Given the description of an element on the screen output the (x, y) to click on. 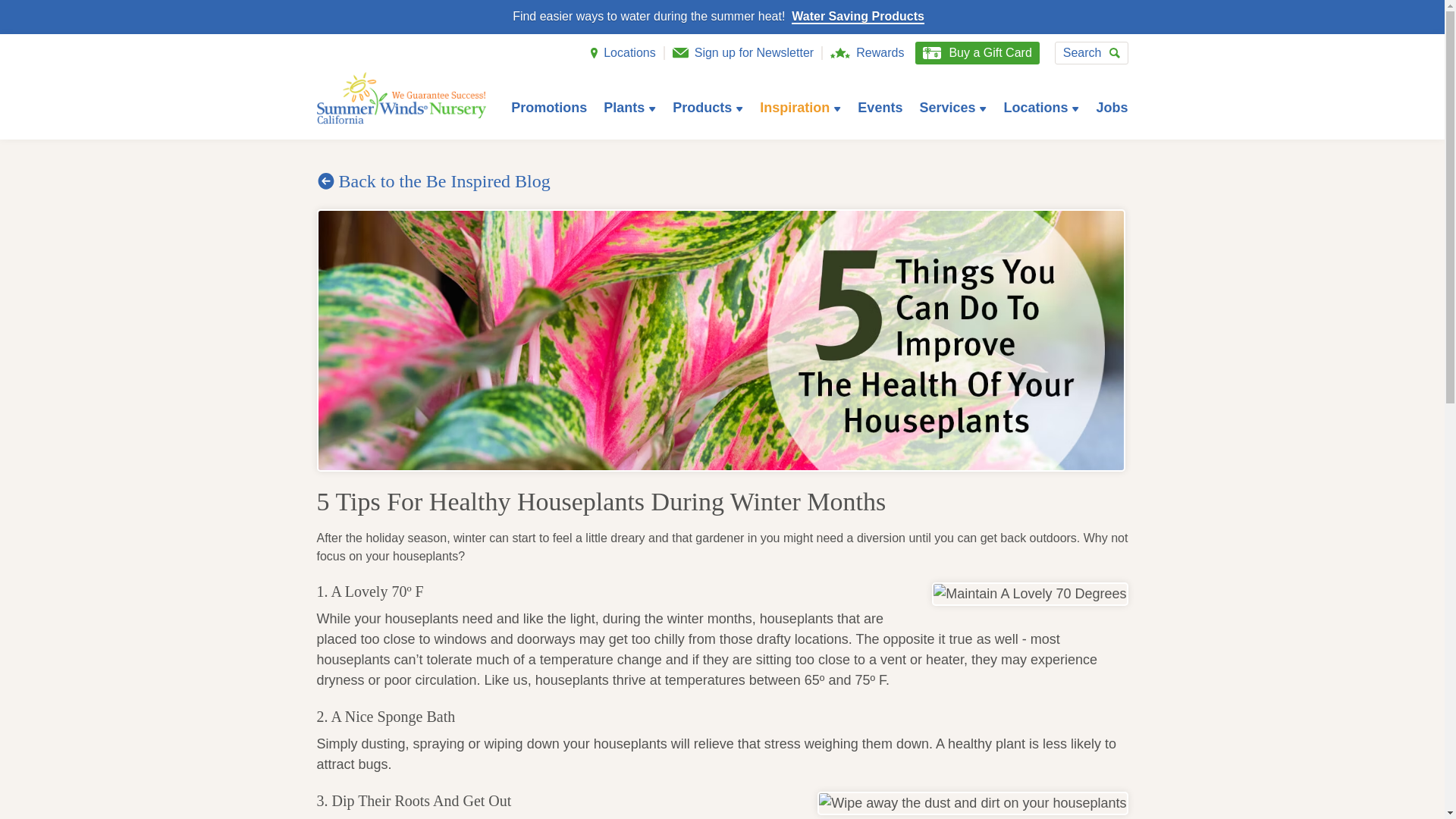
Sign up for Newsletter (753, 52)
Promotions (548, 107)
Water Saving Products (858, 16)
Search (1091, 52)
Rewards (880, 52)
Events (879, 107)
Locations (630, 52)
Buy a Gift Card (977, 52)
